Given the description of an element on the screen output the (x, y) to click on. 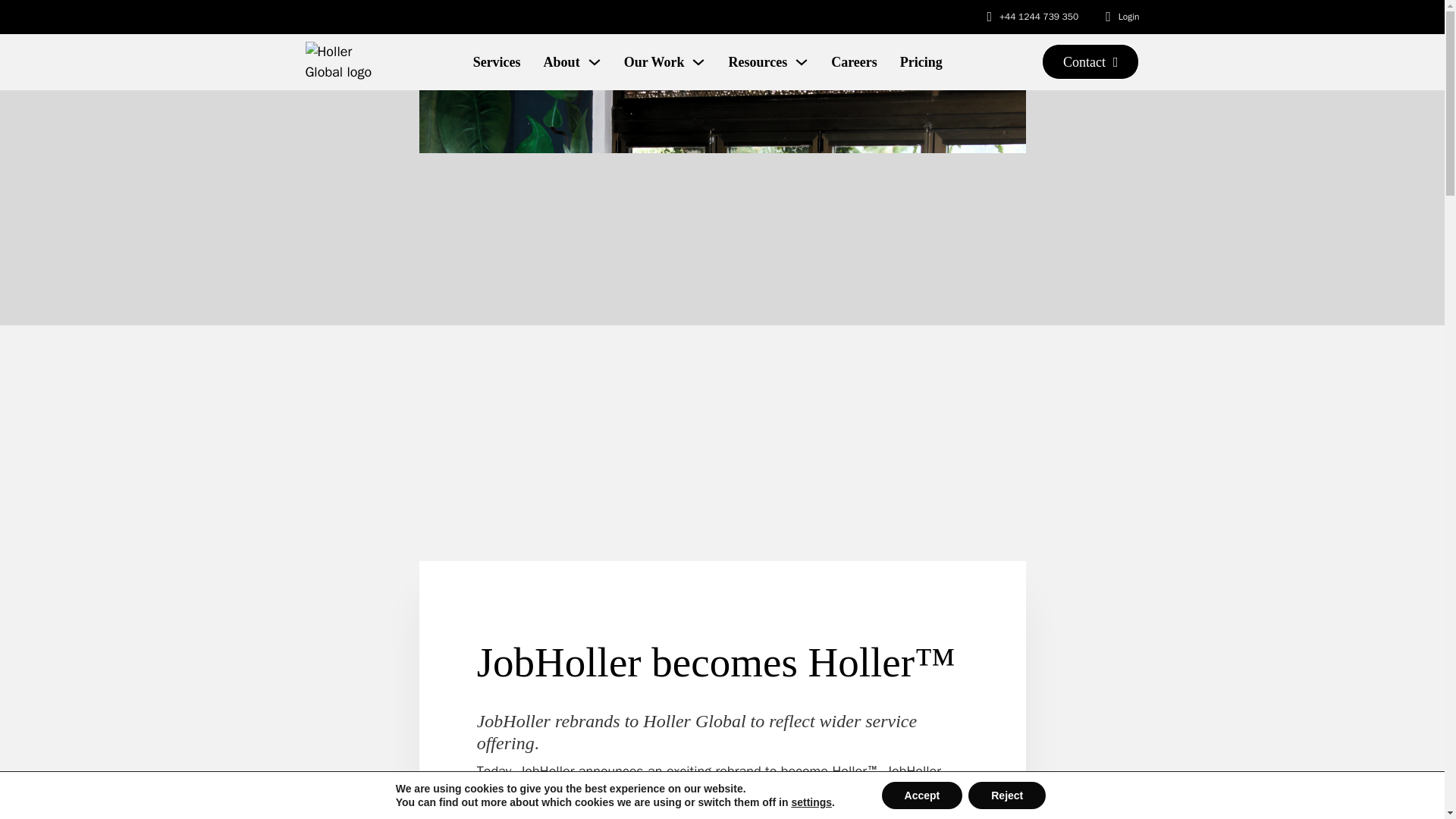
About (561, 61)
Login (1129, 16)
Careers (854, 61)
Resources (757, 61)
Services (497, 61)
Our Work (654, 61)
Pricing (920, 61)
